Given the description of an element on the screen output the (x, y) to click on. 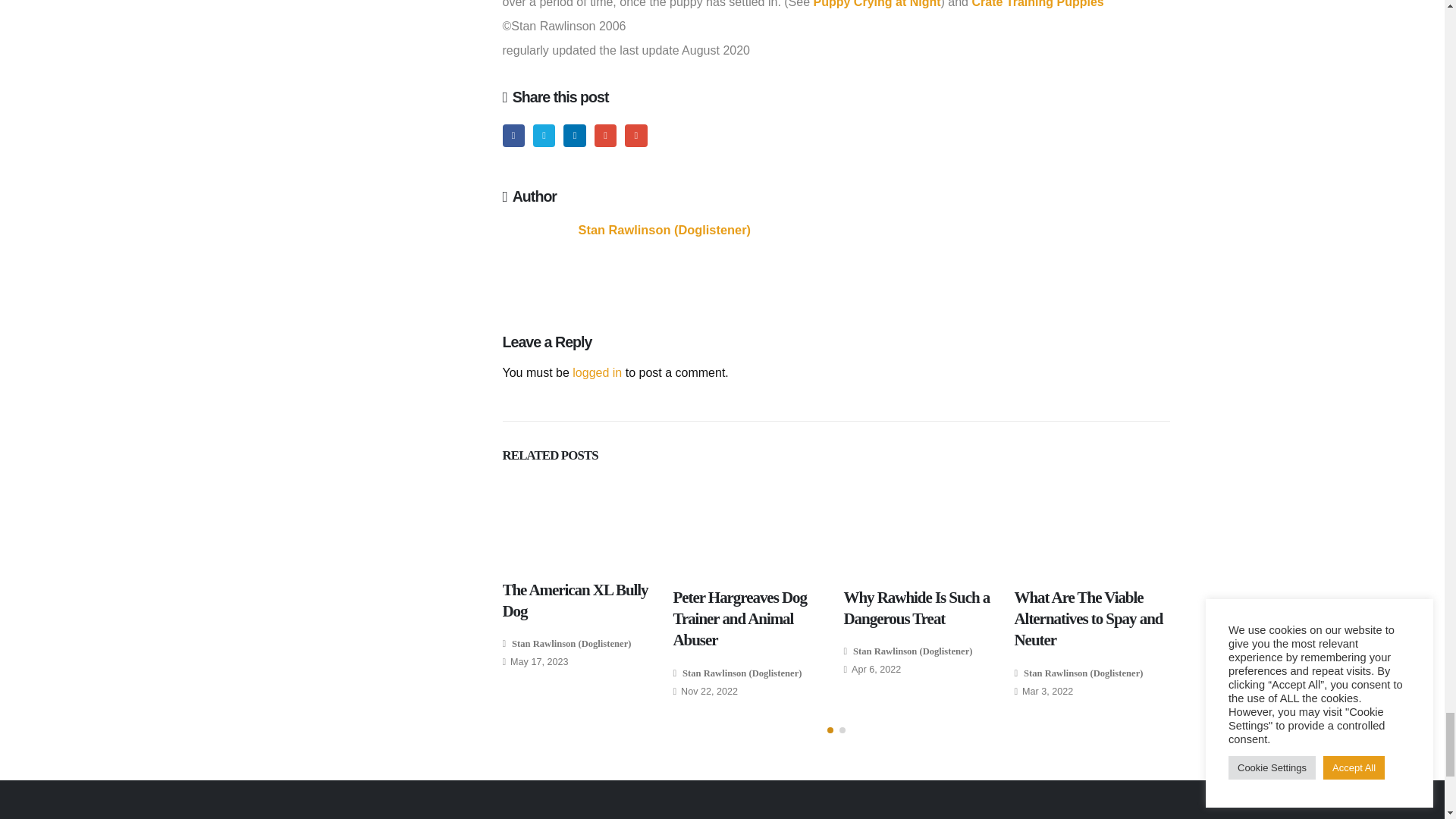
How to overcome Puppy Carying at Night (876, 4)
